Given the description of an element on the screen output the (x, y) to click on. 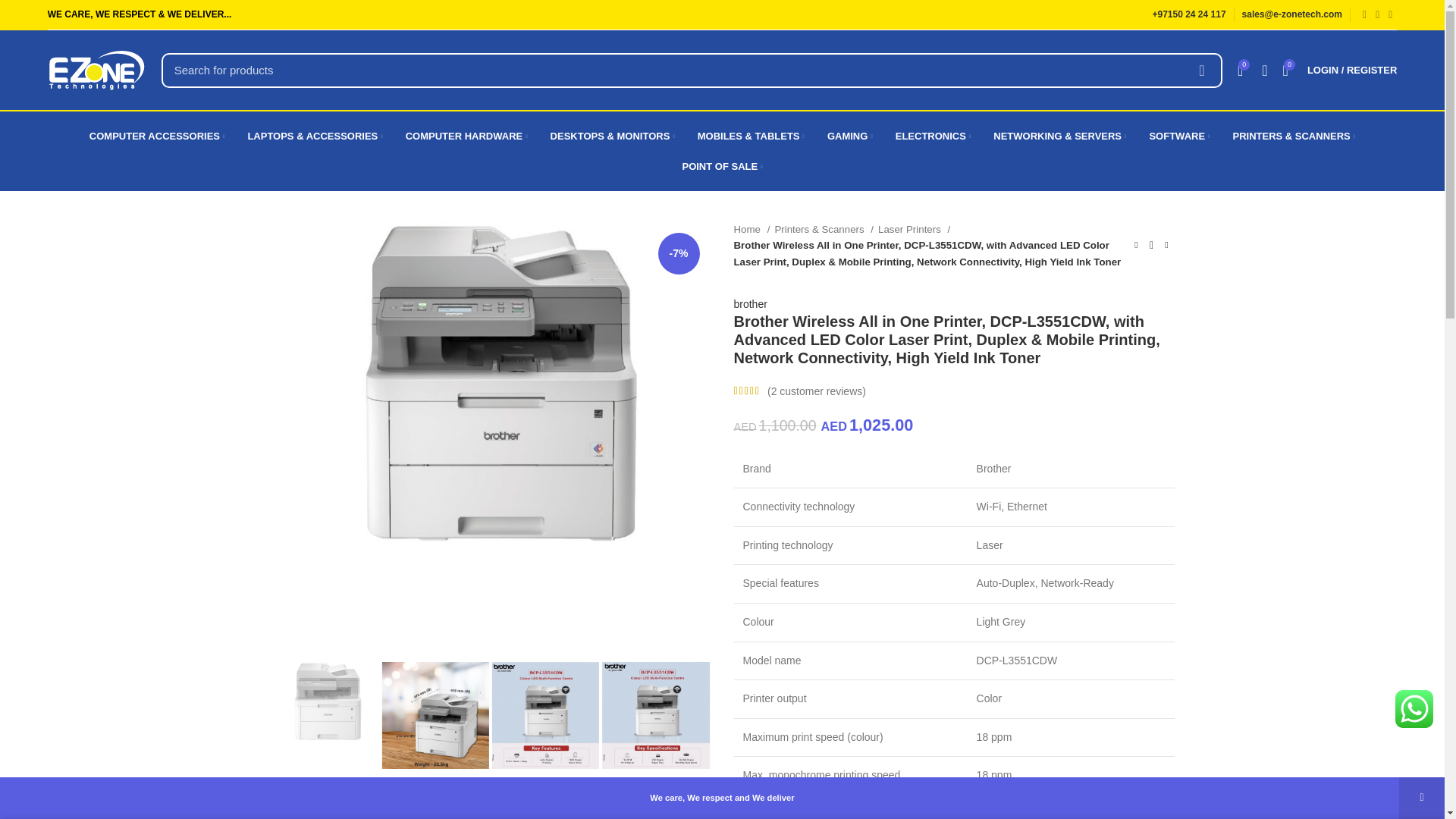
Search for products (692, 70)
My account (1352, 69)
Sign up (1005, 680)
